Given the description of an element on the screen output the (x, y) to click on. 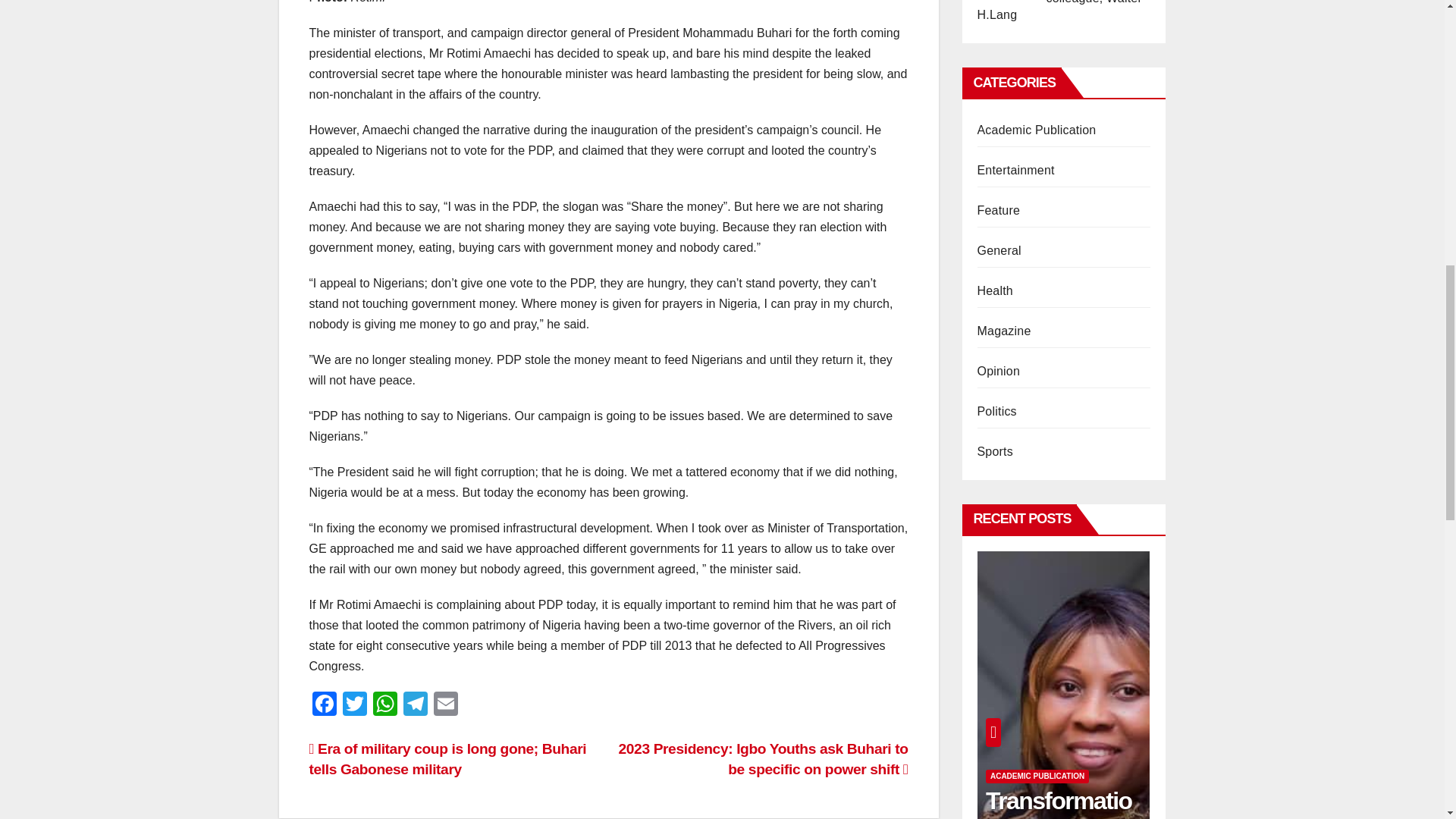
Facebook (323, 705)
WhatsApp (384, 705)
Email (445, 705)
Telegram (415, 705)
WhatsApp (384, 705)
Facebook (323, 705)
Telegram (415, 705)
Twitter (354, 705)
Email (445, 705)
Twitter (354, 705)
